Given the description of an element on the screen output the (x, y) to click on. 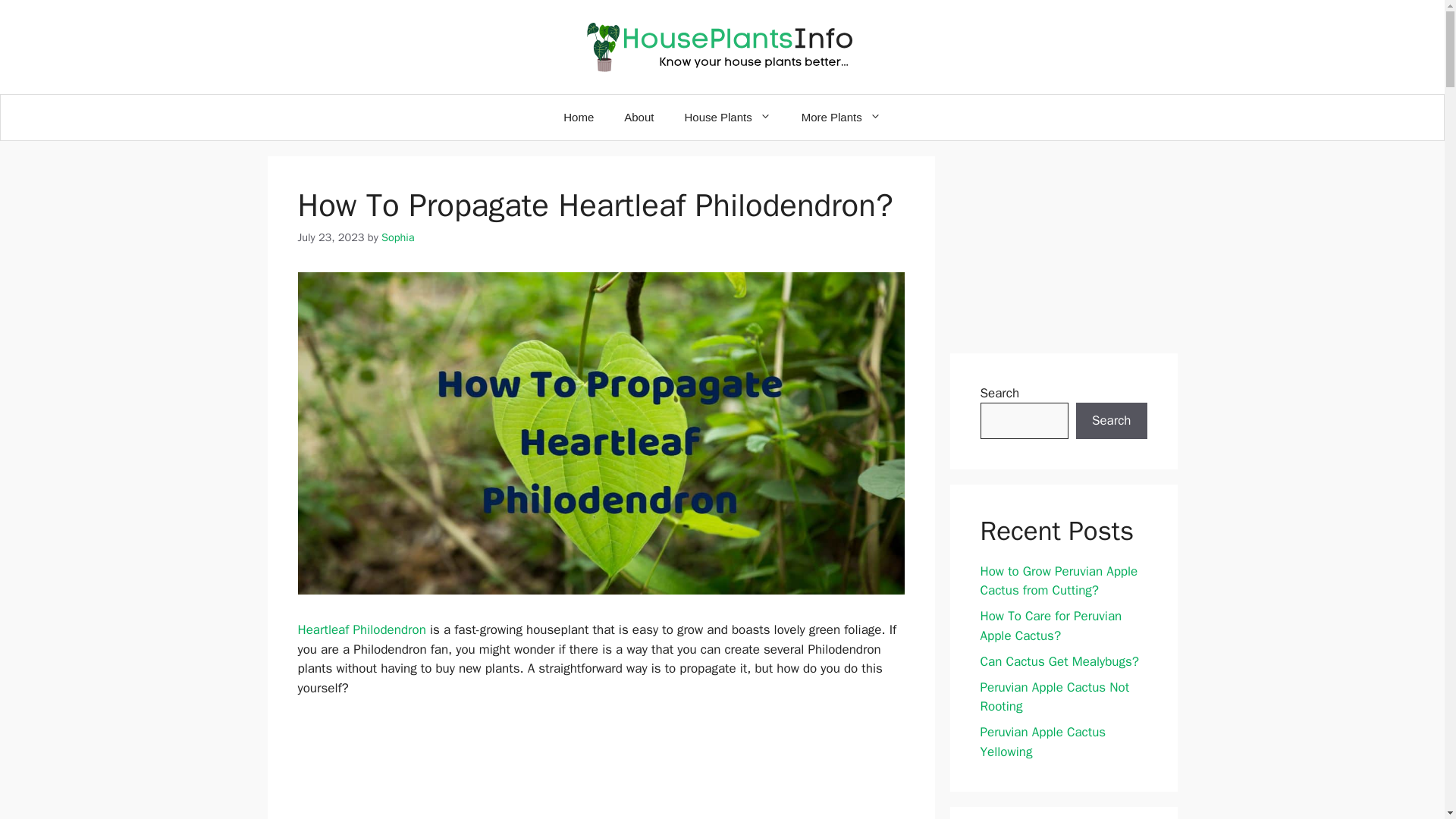
Heartleaf Philodendron (361, 629)
More Plants (841, 117)
View all posts by Sophia (397, 237)
About (638, 117)
Home (578, 117)
House Plants (727, 117)
Sophia (397, 237)
